Given the description of an element on the screen output the (x, y) to click on. 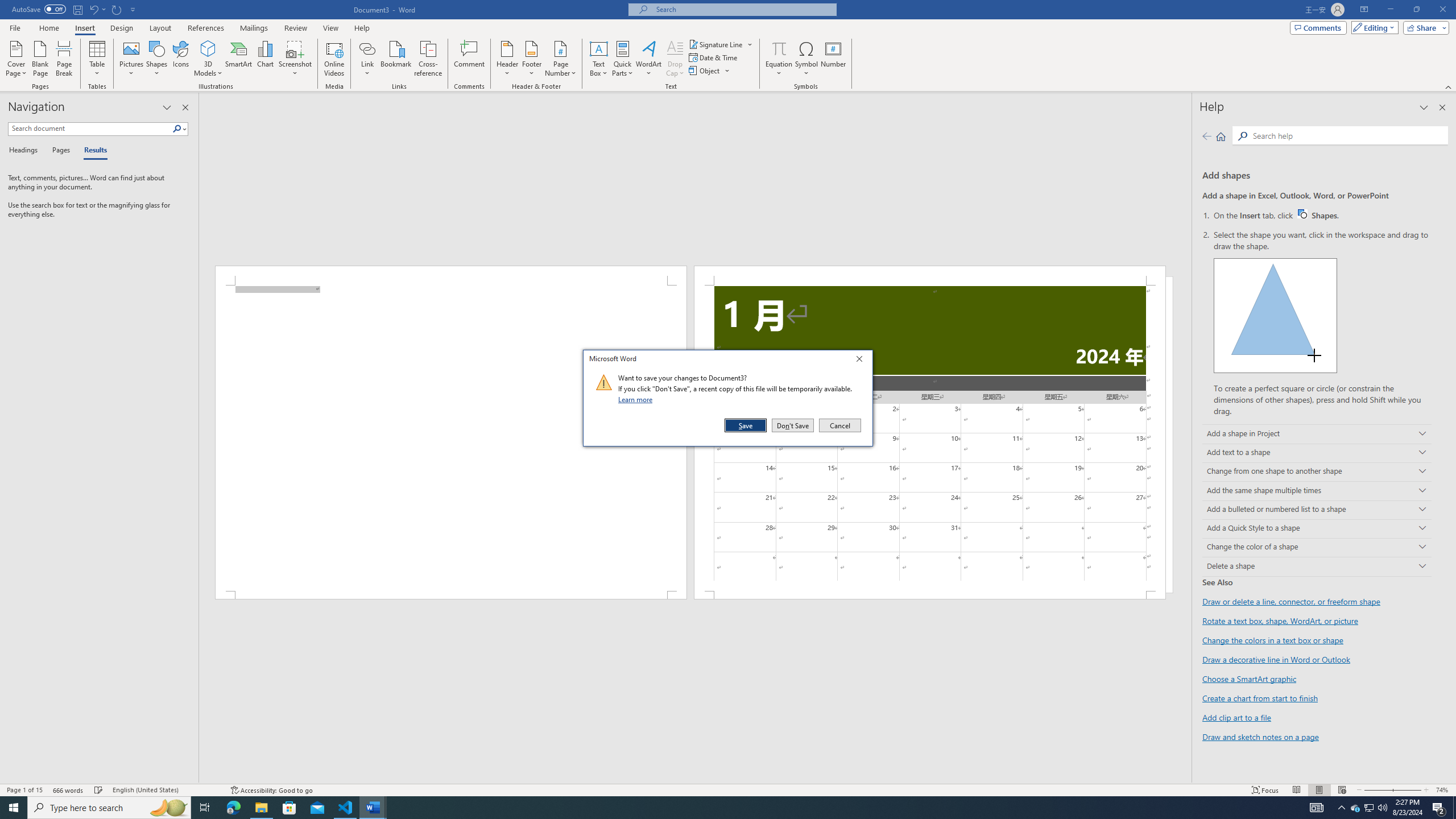
Footer -Section 1- (930, 595)
User Promoted Notification Area (1368, 807)
Pictures (131, 58)
Undo New Page (96, 9)
Change the colors in a text box or shape (1272, 639)
Online Videos... (333, 58)
Search highlights icon opens search home window (167, 807)
Word - 2 running windows (373, 807)
